Given the description of an element on the screen output the (x, y) to click on. 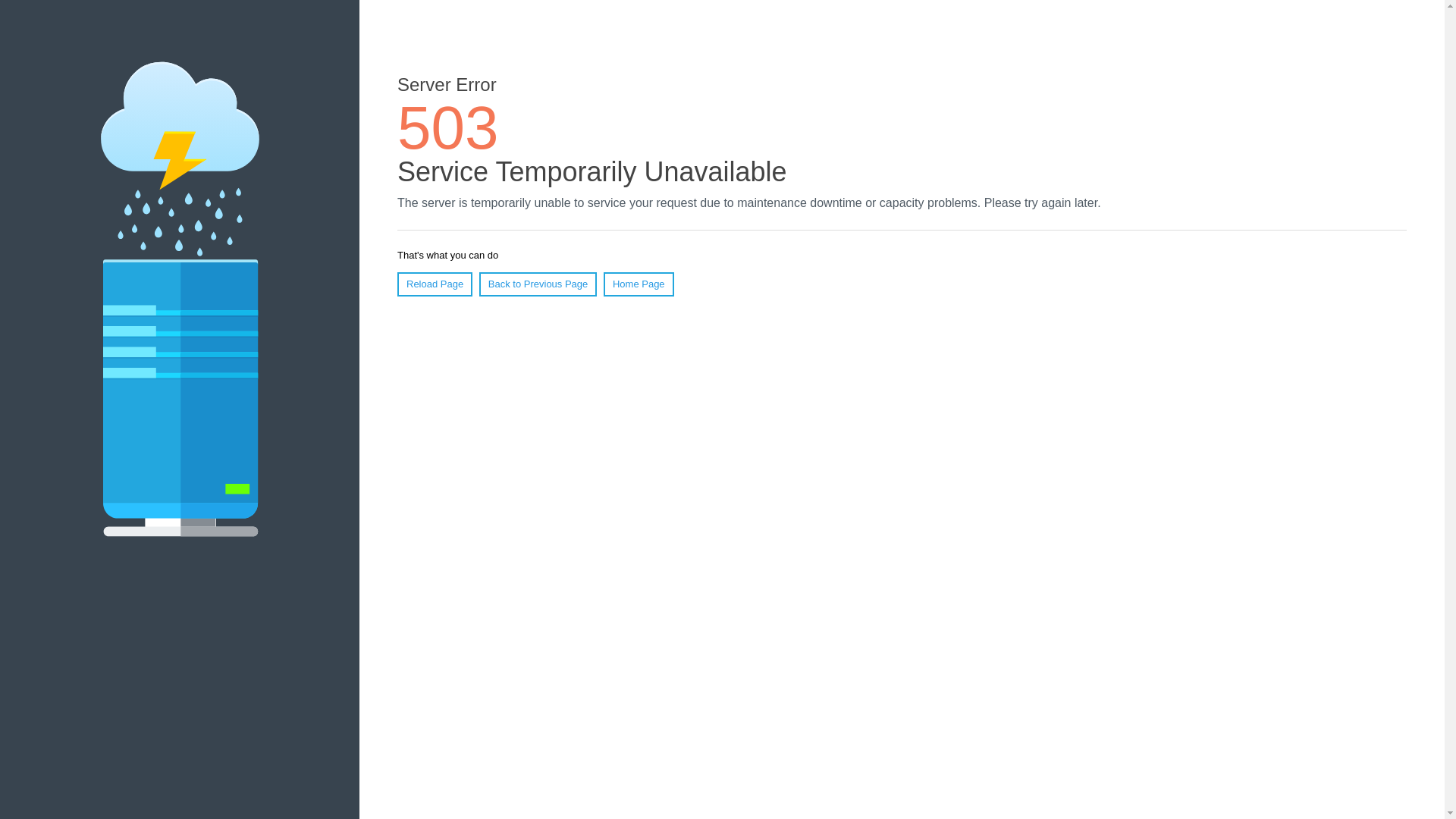
Home Page Element type: text (638, 284)
Reload Page Element type: text (434, 284)
Back to Previous Page Element type: text (538, 284)
